Given the description of an element on the screen output the (x, y) to click on. 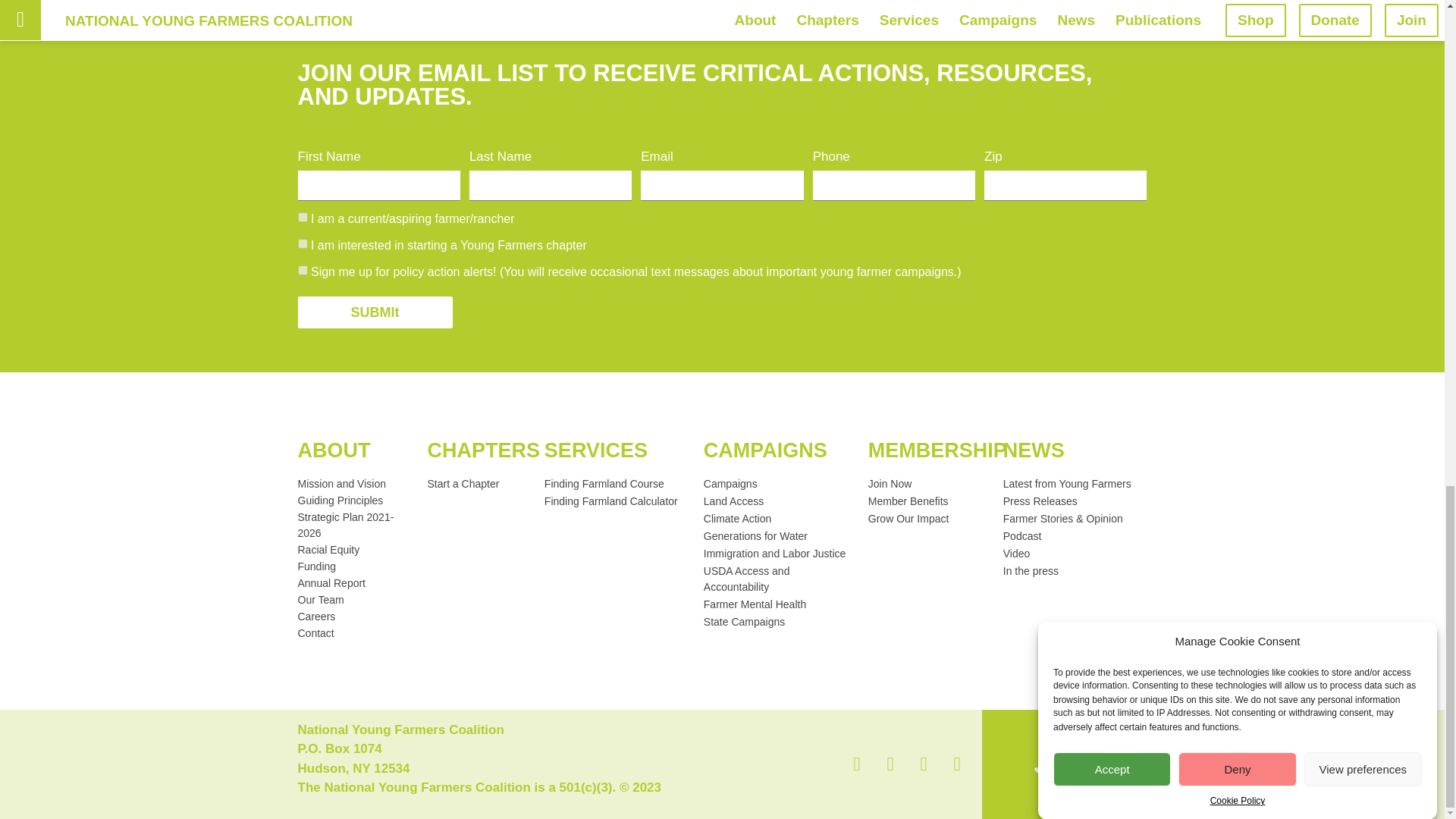
I am interested in starting a Young Farmers chapter (302, 243)
